Given the description of an element on the screen output the (x, y) to click on. 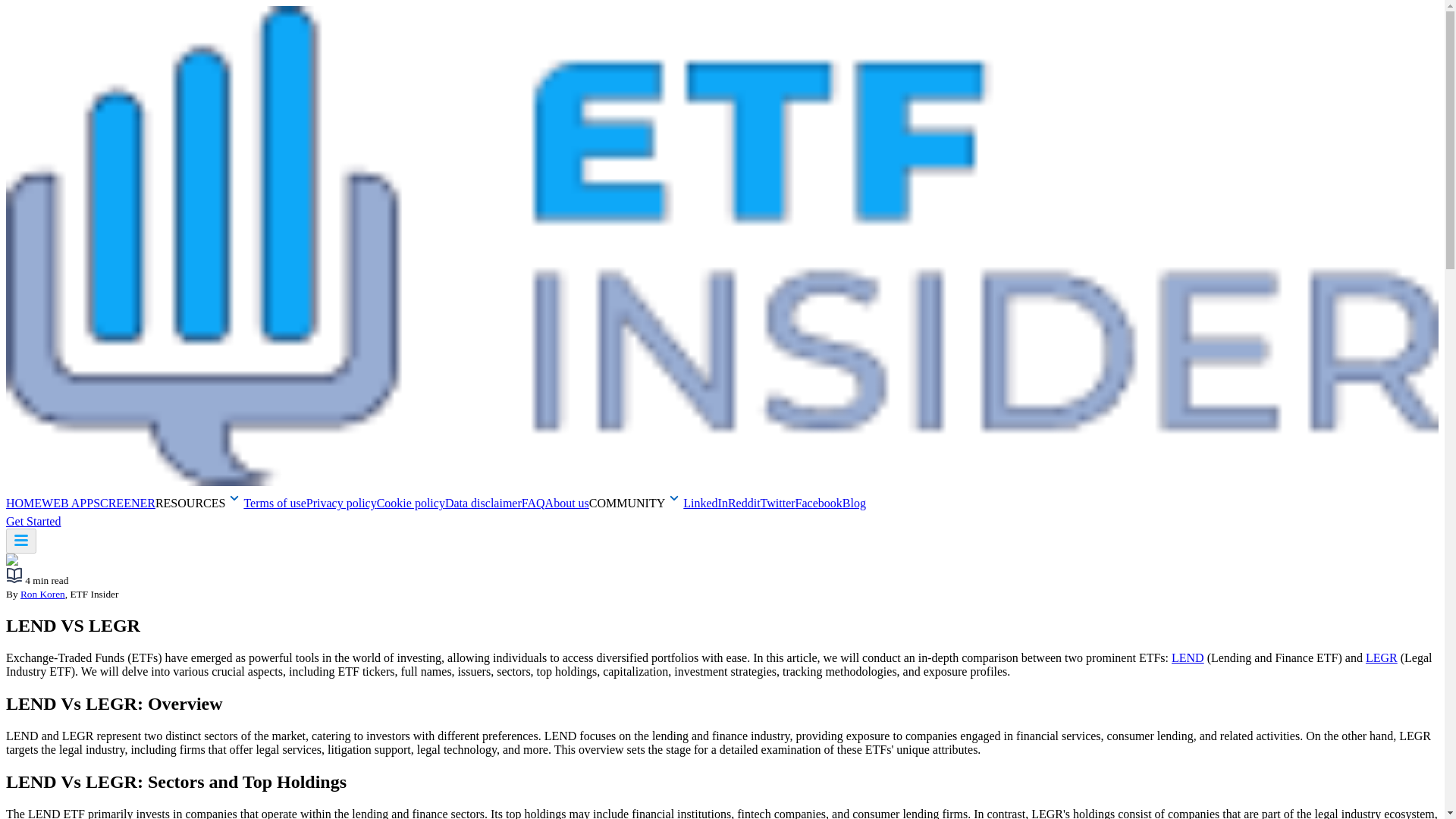
SCREENER (124, 502)
WEB APP (67, 502)
LEGR (1381, 657)
Ron Koren (42, 593)
Terms of use (274, 502)
Privacy policy (341, 502)
Data disclaimer (483, 502)
Get Started (40, 521)
Reddit (744, 502)
LEND (1188, 657)
